Given the description of an element on the screen output the (x, y) to click on. 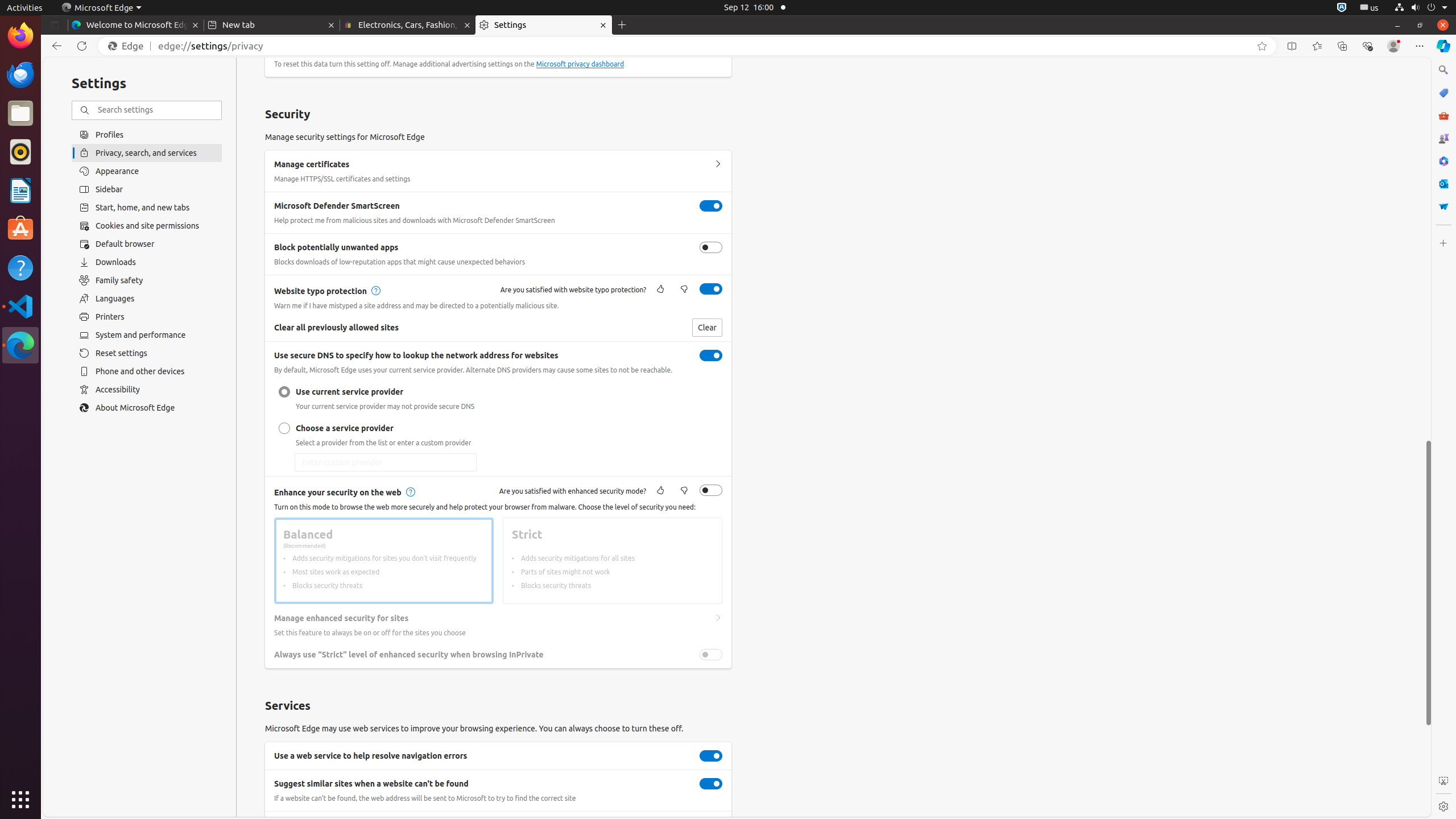
Refresh Element type: push-button (81, 45)
Outlook Element type: push-button (1443, 183)
Screenshot Element type: push-button (1443, 780)
Settings Element type: page-tab (543, 25)
Privacy, search, and services Element type: tree-item (146, 152)
